Given the description of an element on the screen output the (x, y) to click on. 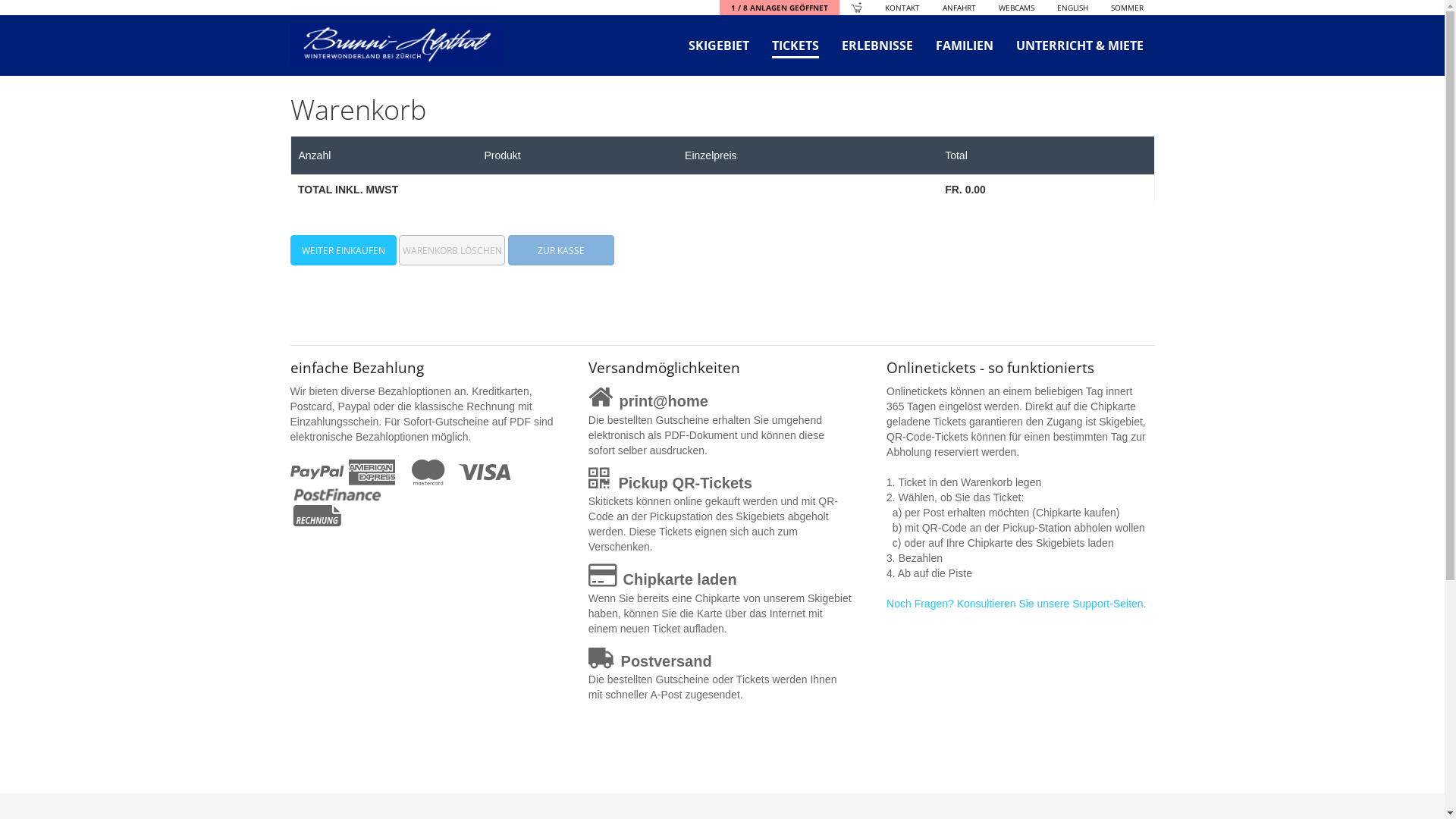
SOMMER Element type: text (1126, 7)
SKIGEBIET Element type: text (717, 45)
ERLEBNISSE Element type: text (876, 45)
WEBCAMS Element type: text (1015, 7)
FAMILIEN Element type: text (963, 45)
ANFAHRT Element type: text (958, 7)
UNTERRICHT & MIETE Element type: text (1079, 45)
weiter einkaufen Element type: text (342, 250)
ENGLISH Element type: text (1072, 7)
TICKETS Element type: text (794, 45)
zur Kasse Element type: text (561, 250)
Noch Fragen? Konsultieren Sie unsere Support-Seiten. Element type: text (1015, 603)
KONTAKT Element type: text (901, 7)
